Given the description of an element on the screen output the (x, y) to click on. 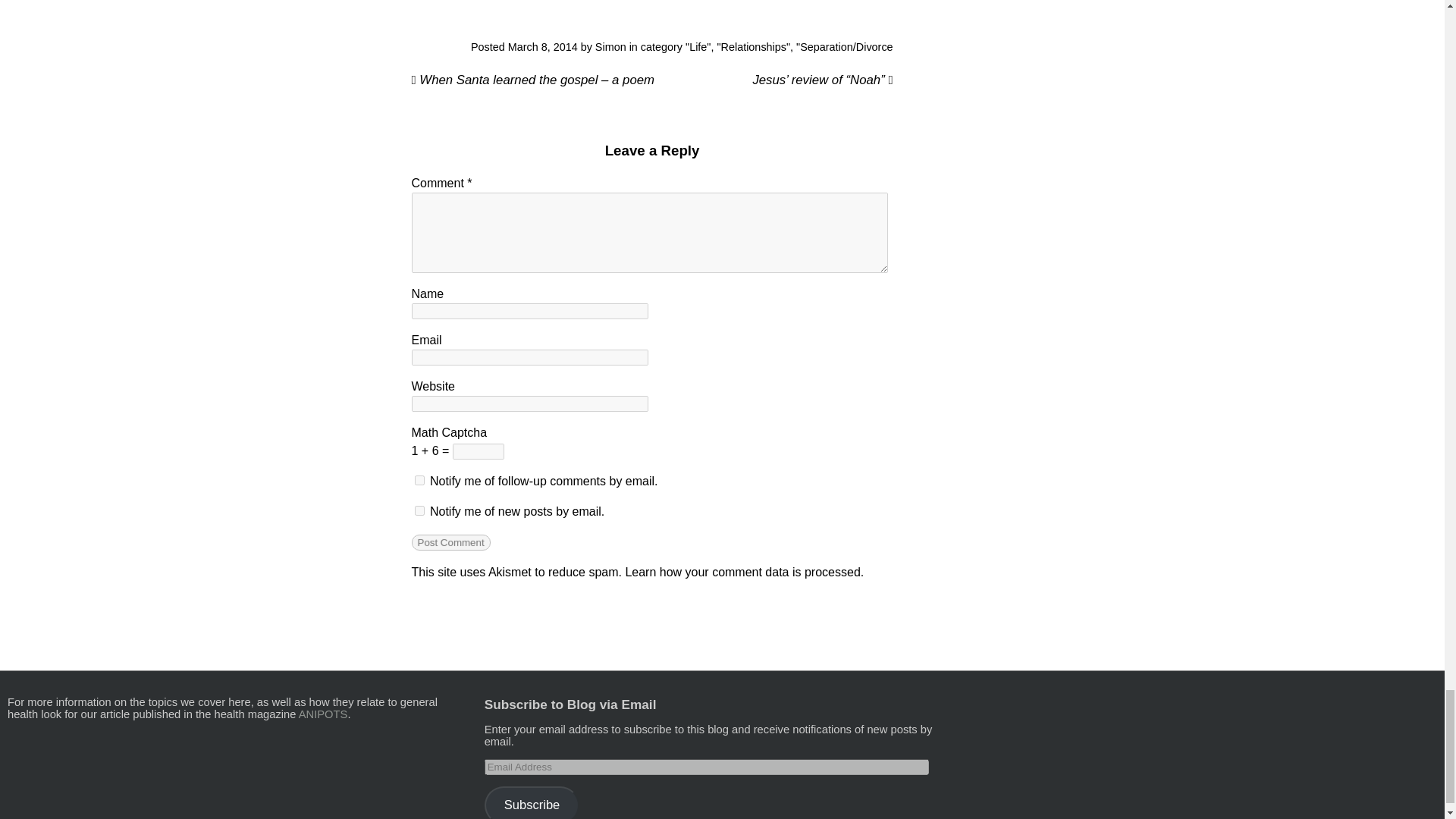
subscribe (418, 479)
subscribe (418, 510)
Post Comment (449, 541)
Relationships (753, 46)
Post Comment (449, 541)
Learn how your comment data is processed (742, 571)
Life (697, 46)
